Given the description of an element on the screen output the (x, y) to click on. 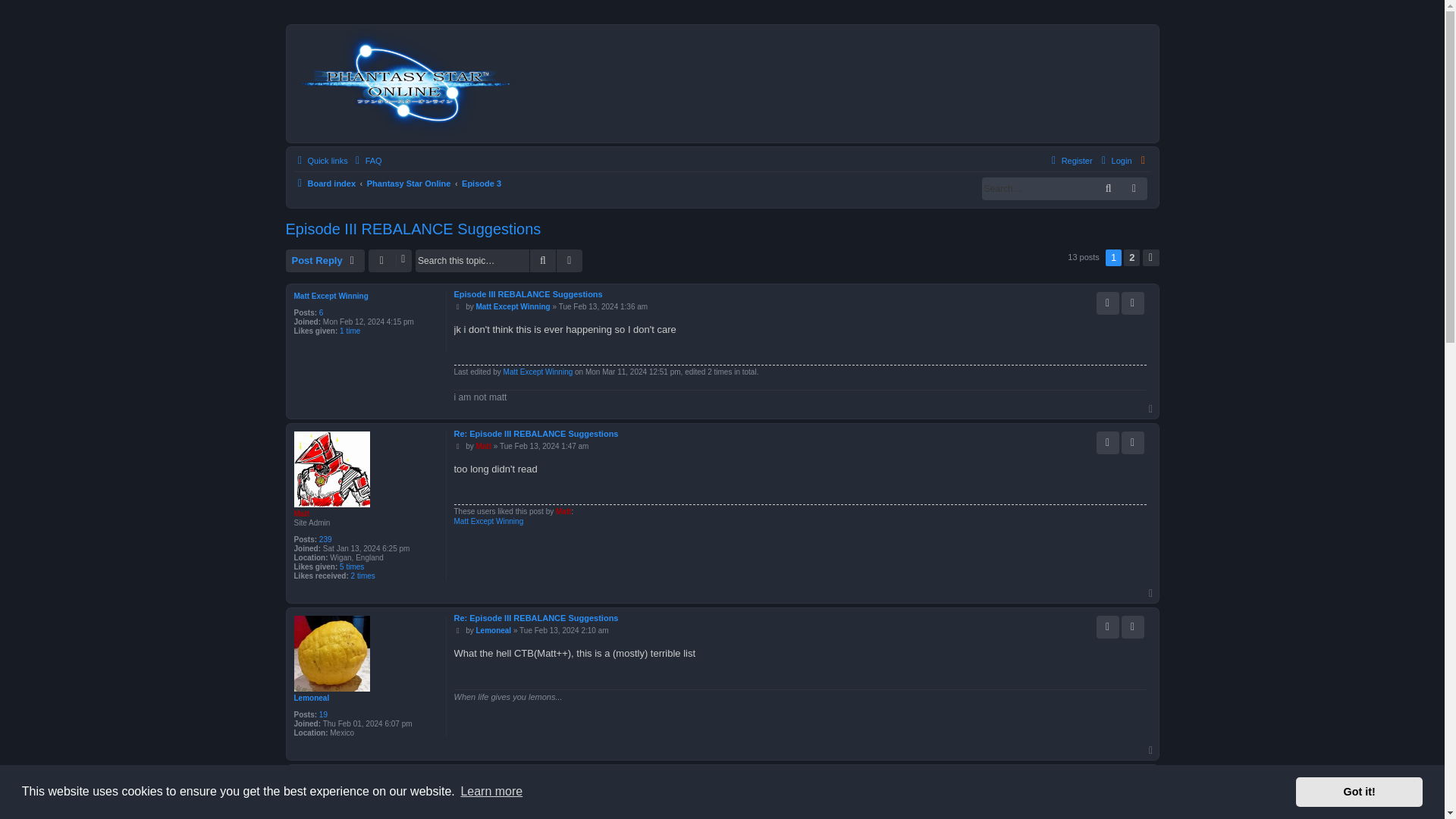
Phantasy Star Online (408, 183)
Search (1108, 188)
Board index (721, 82)
Episode 3 (480, 183)
Login (1114, 160)
Post Reply (325, 260)
Episode III REBALANCE Suggestions (527, 294)
Learn more (491, 791)
Matt Except Winning (513, 307)
2 (1132, 257)
Matt Except Winning (331, 296)
Quote (1132, 302)
Register (1070, 160)
Matt Except Winning (538, 371)
Login (1114, 160)
